Given the description of an element on the screen output the (x, y) to click on. 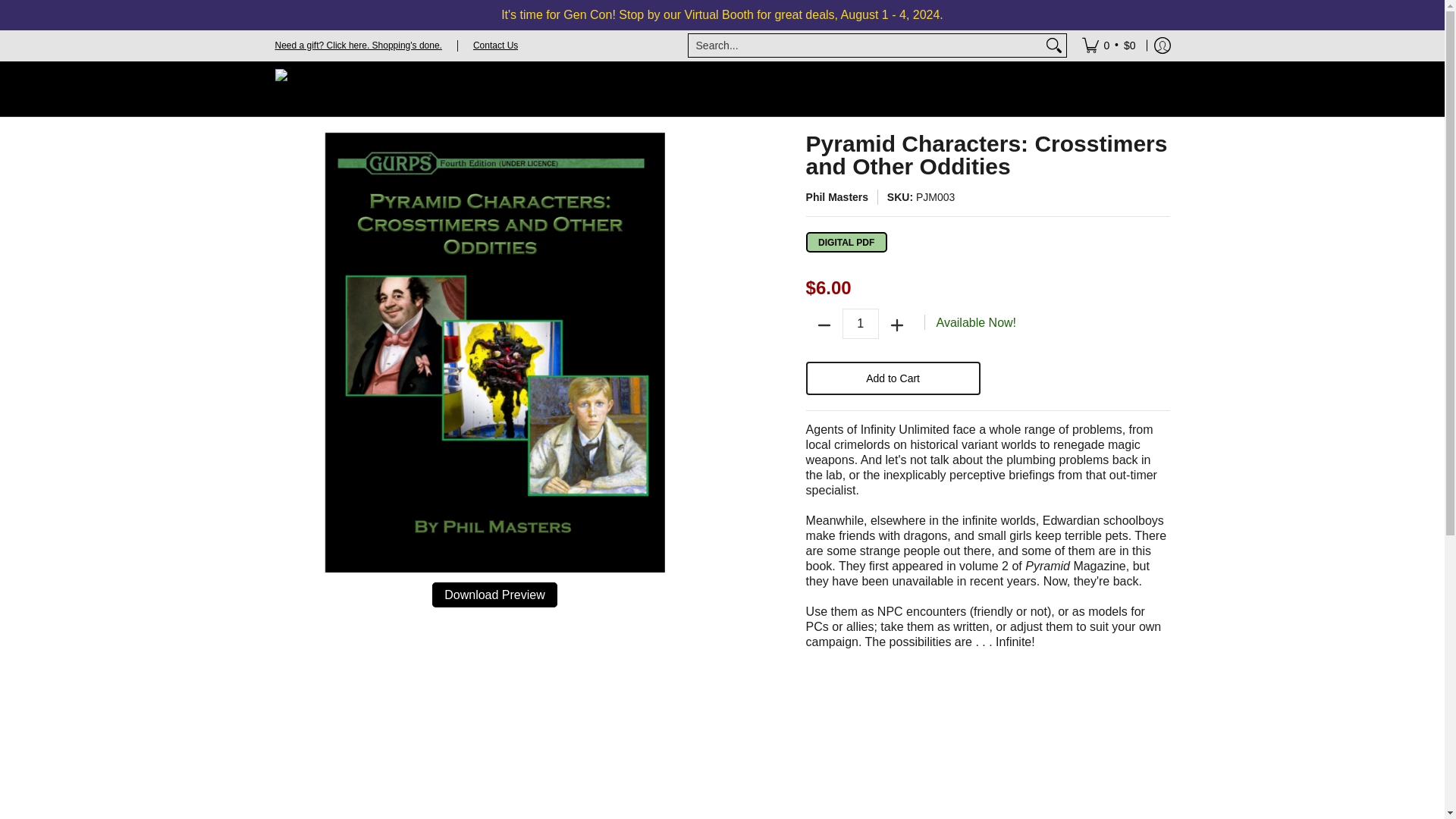
Need a gift? Click here. Shopping's done. (358, 44)
Contact Us (495, 44)
Warehouse 23 Gift Certificate (358, 44)
Cart (1108, 45)
Skip to Main Content (2, 9)
Warehouse 23 (350, 89)
Skip to Main Content (276, 141)
1 (861, 323)
Log in (1161, 45)
Skip to Main Content (2, 9)
